Given the description of an element on the screen output the (x, y) to click on. 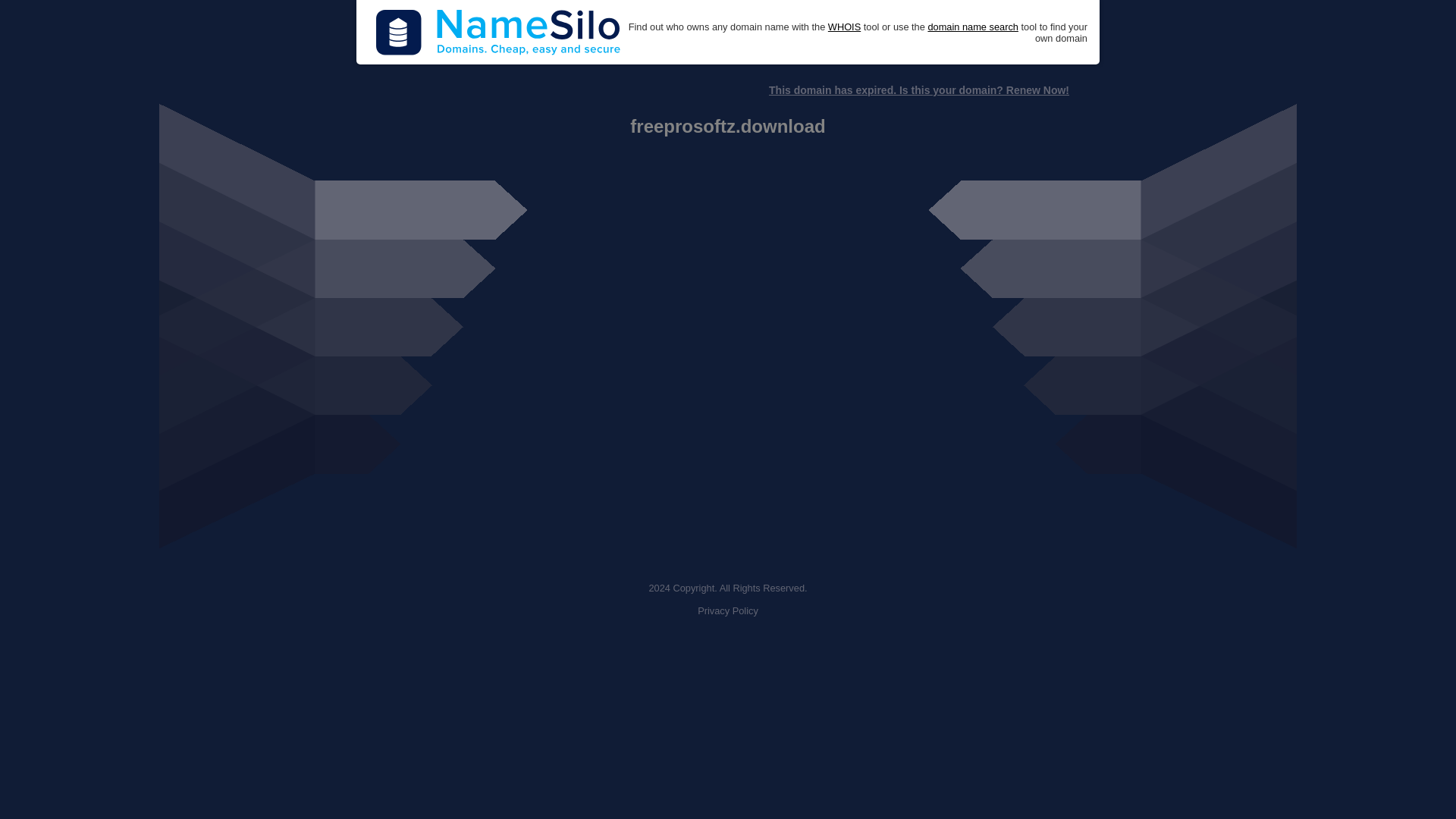
Privacy Policy (727, 610)
WHOIS (844, 26)
domain name search (972, 26)
This domain has expired. Is this your domain? Renew Now! (918, 90)
